Given the description of an element on the screen output the (x, y) to click on. 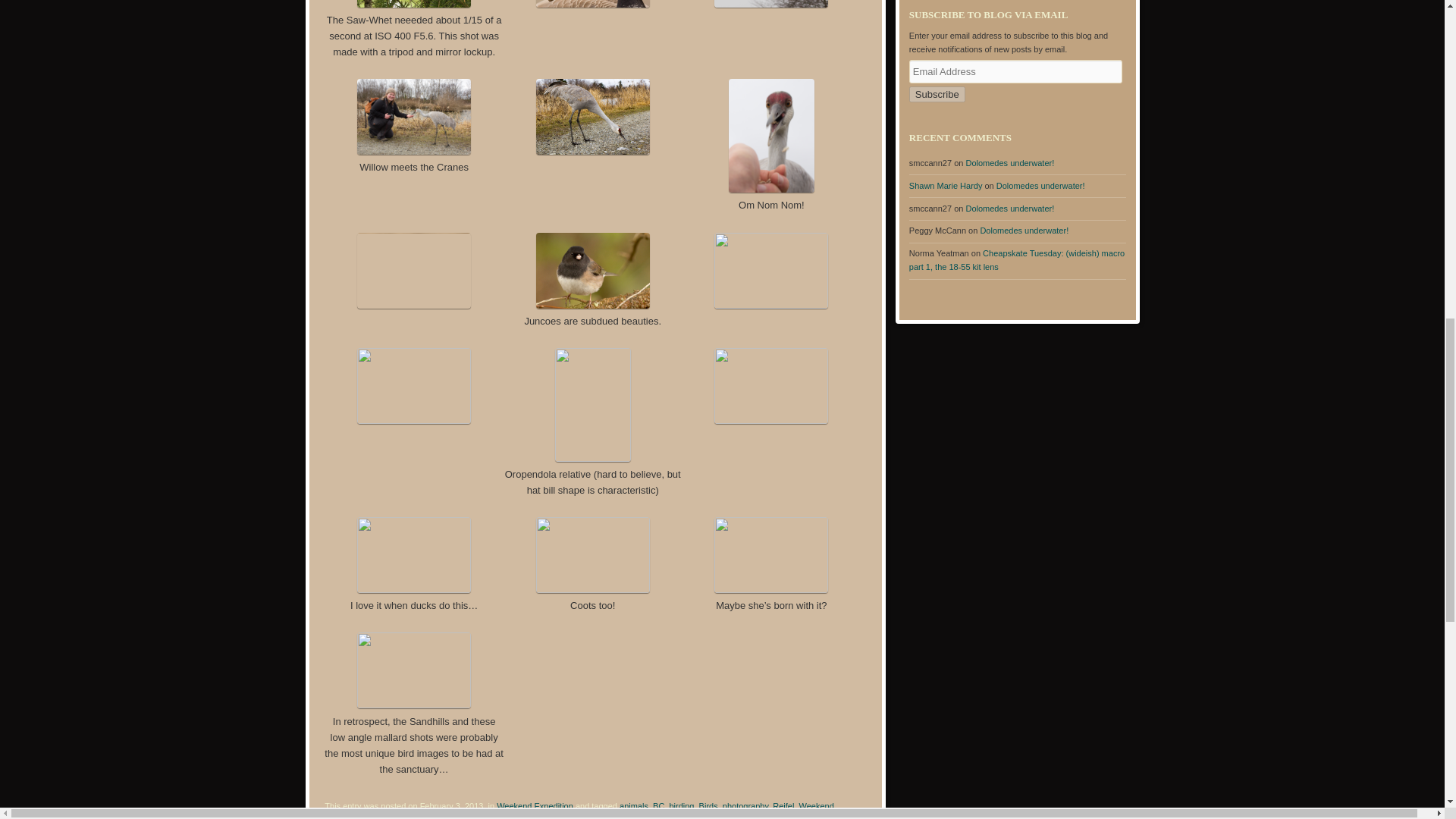
Weekend Expedition (534, 805)
Subscribe (936, 94)
BC (657, 805)
animals (633, 805)
birding (681, 805)
Birds (707, 805)
Permalink to Results of Weekend Expedition 3: Reifel (440, 816)
